Given the description of an element on the screen output the (x, y) to click on. 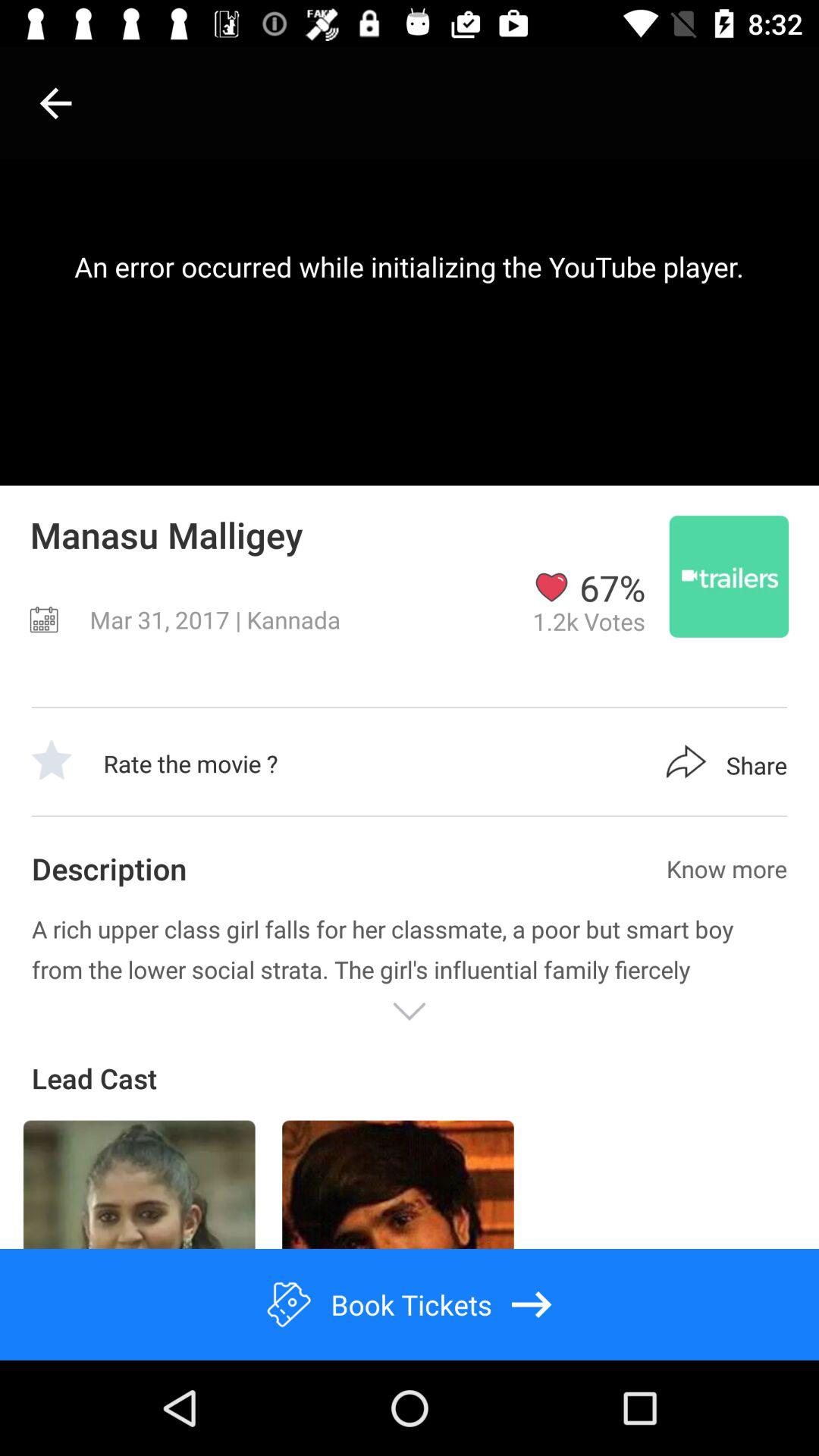
down arrow (409, 1011)
